Given the description of an element on the screen output the (x, y) to click on. 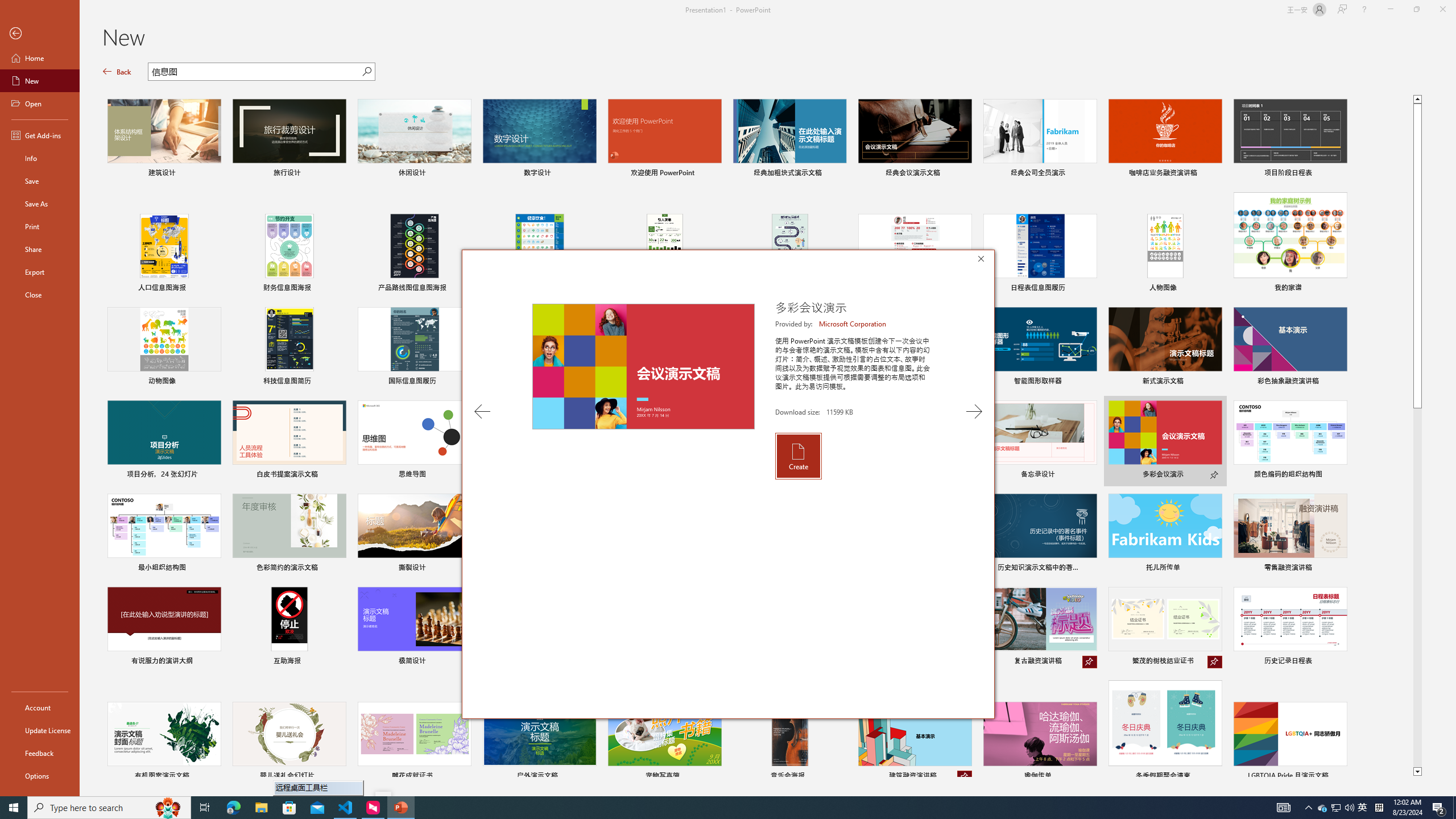
Previous Template (481, 411)
Microsoft Store (289, 807)
Q2790: 100% (1349, 807)
Back (40, 33)
